Given the description of an element on the screen output the (x, y) to click on. 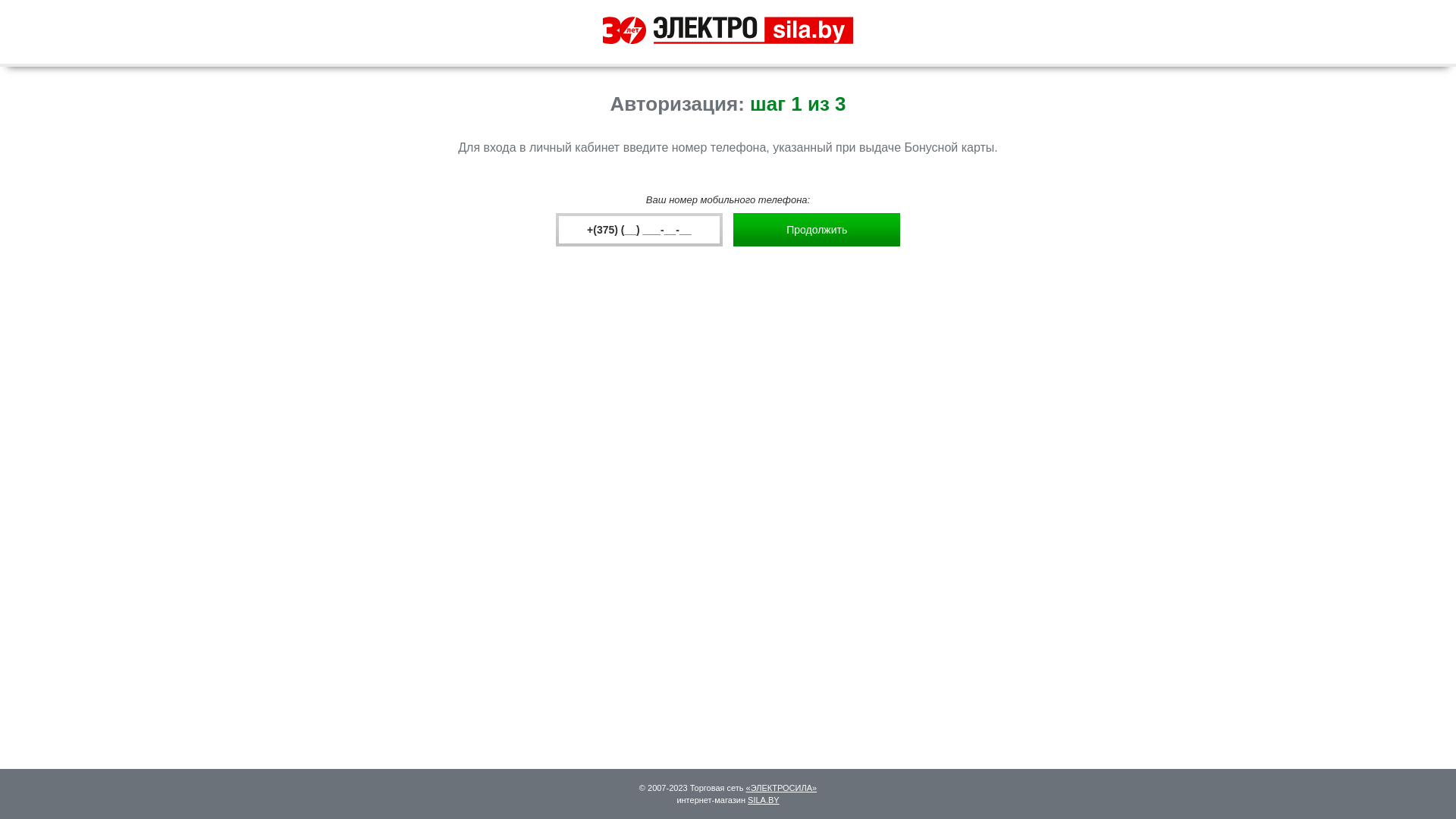
SILA.BY Element type: text (763, 799)
